Given the description of an element on the screen output the (x, y) to click on. 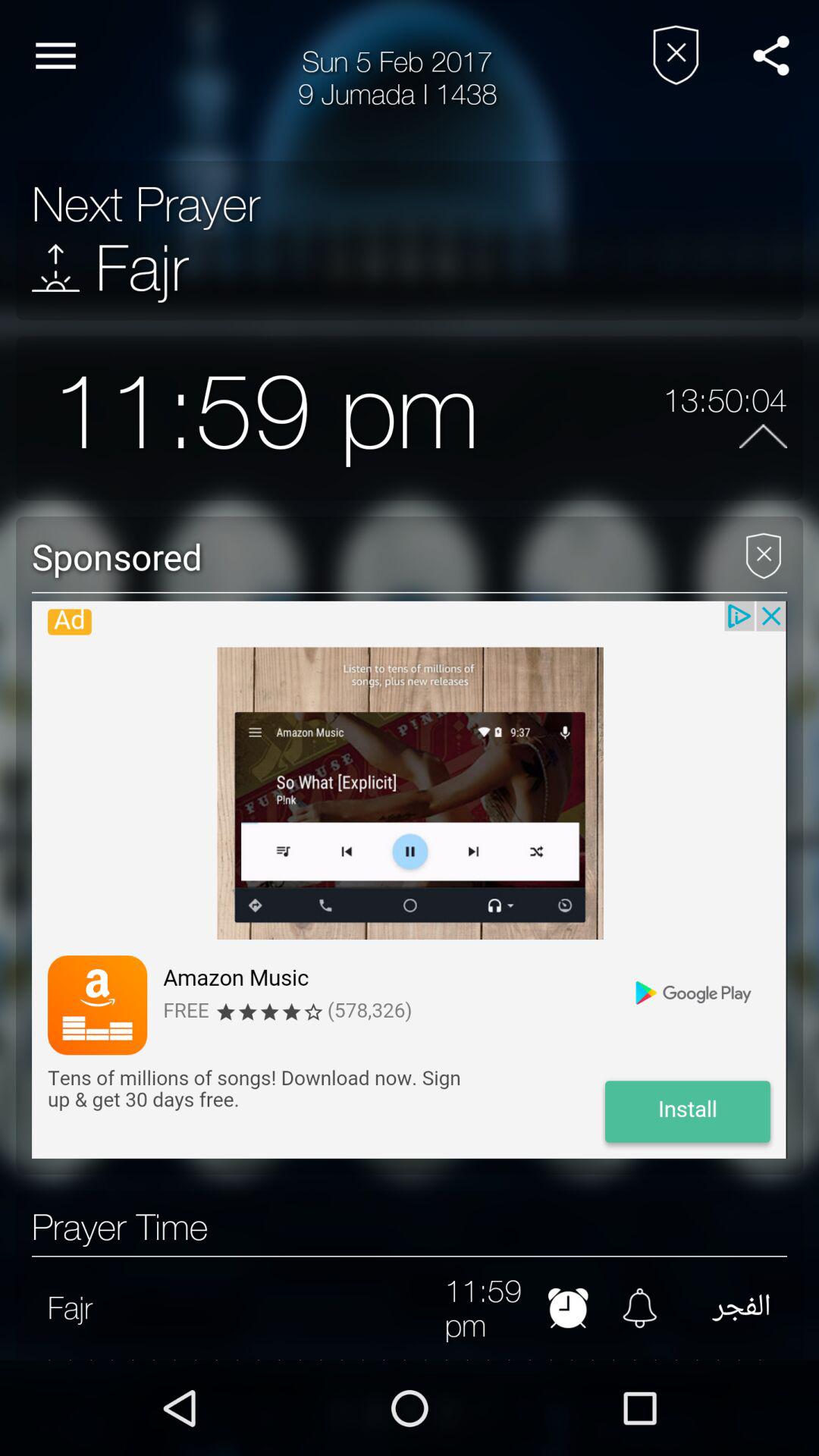
launch item to the left of 9 jumada i (55, 55)
